Given the description of an element on the screen output the (x, y) to click on. 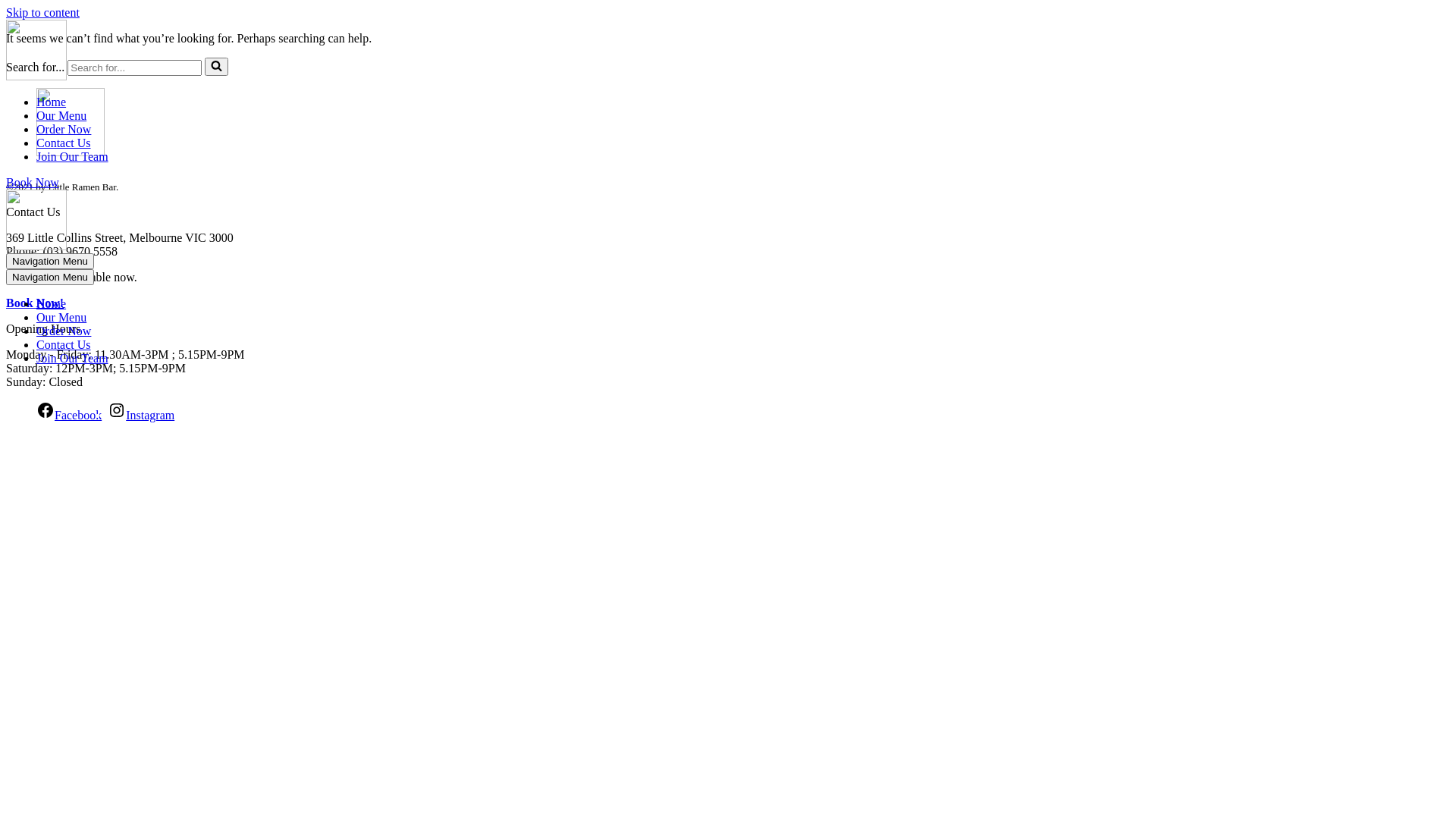
Order Now Element type: text (63, 128)
Our Menu Element type: text (61, 316)
Little Ramen Bar Element type: hover (36, 75)
Facebook Element type: text (68, 414)
Join Our Team Element type: text (72, 156)
Our Menu Element type: text (61, 115)
Navigation Menu Element type: text (50, 261)
Navigation Menu Element type: text (50, 277)
Little Ramen Bar Element type: hover (36, 245)
Skip to content Element type: text (42, 12)
Join Our Team Element type: text (72, 357)
Contact Us Element type: text (63, 142)
Book Now! Element type: text (34, 302)
Home Element type: text (50, 303)
Order Now Element type: text (63, 330)
Instagram Element type: text (140, 414)
Home Element type: text (50, 101)
Contact Us Element type: text (63, 344)
Book Now Element type: text (32, 181)
